Given the description of an element on the screen output the (x, y) to click on. 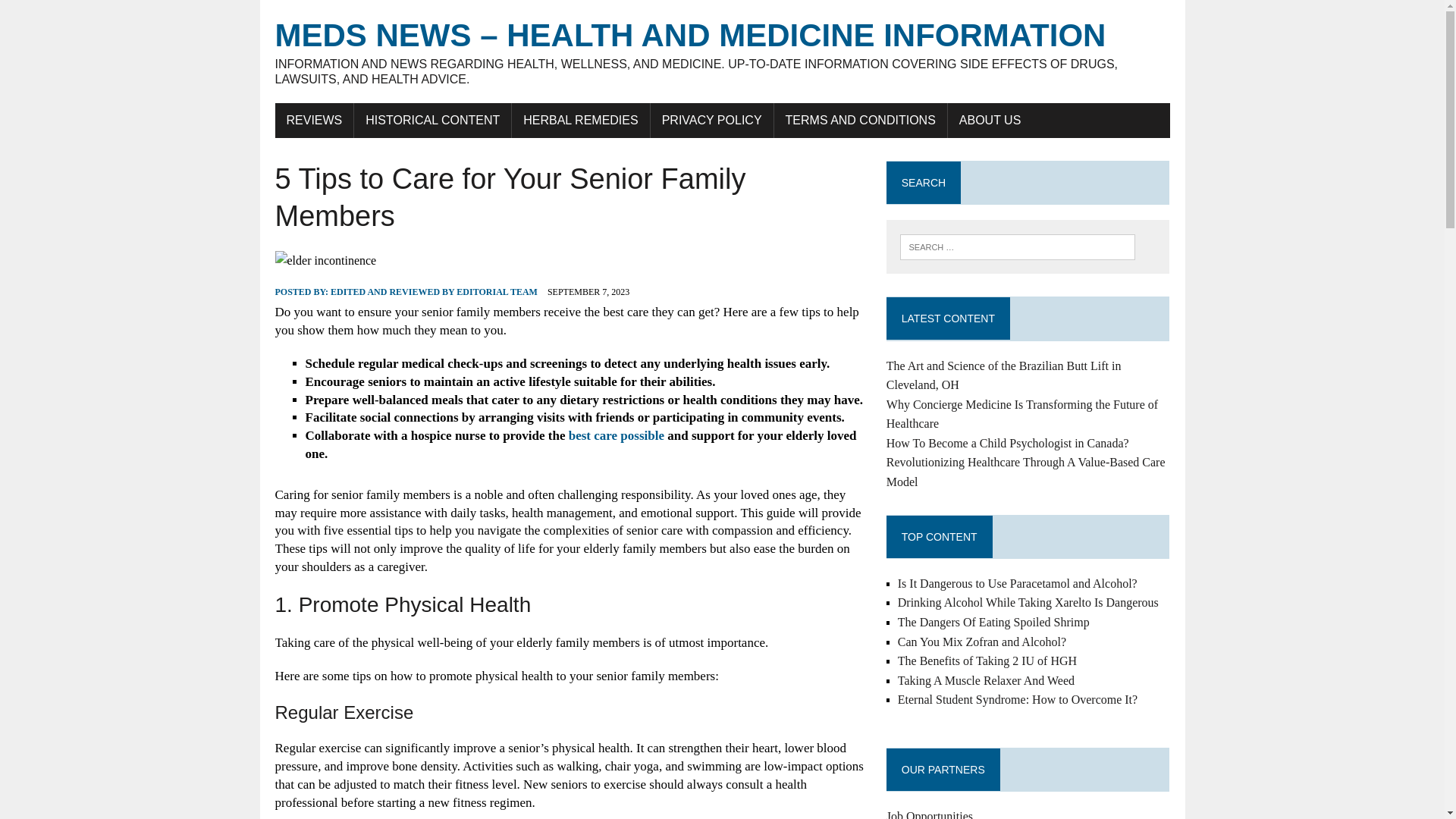
HERBAL REMEDIES (580, 120)
Revolutionizing Healthcare Through A Value-Based Care Model (1026, 471)
Can You Mix Zofran and Alcohol? (981, 641)
Drinking Alcohol While Taking Xarelto Is Dangerous (1028, 602)
TERMS AND CONDITIONS (860, 120)
EDITED AND REVIEWED BY EDITORIAL TEAM (433, 291)
HISTORICAL CONTENT (432, 120)
The Benefits of Taking 2 IU of HGH (987, 660)
Taking A Muscle Relaxer And Weed (986, 680)
